Given the description of an element on the screen output the (x, y) to click on. 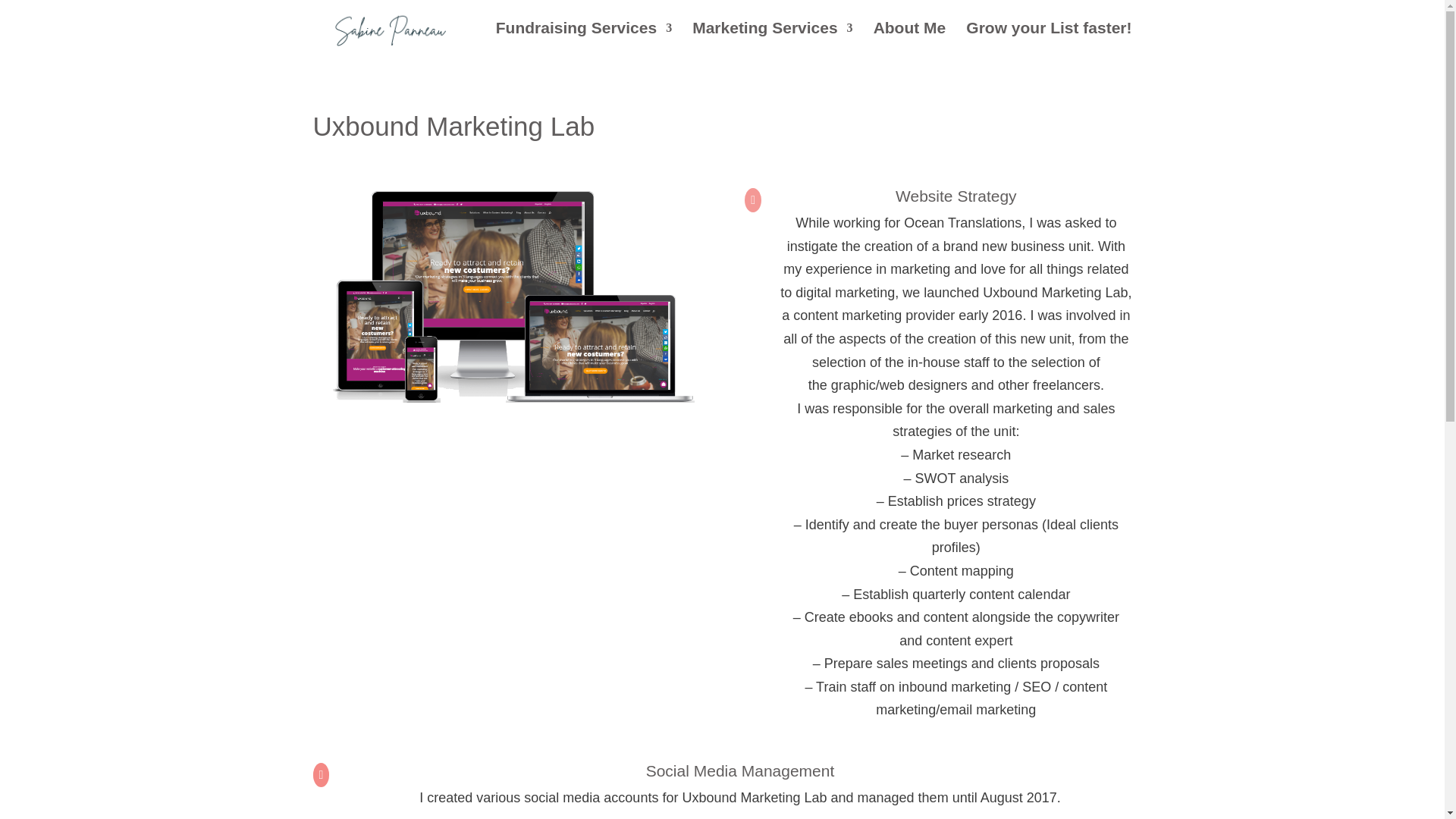
Fundraising Services (583, 39)
Marketing Services (772, 39)
About Me (909, 39)
Grow your List faster! (1048, 39)
